Given the description of an element on the screen output the (x, y) to click on. 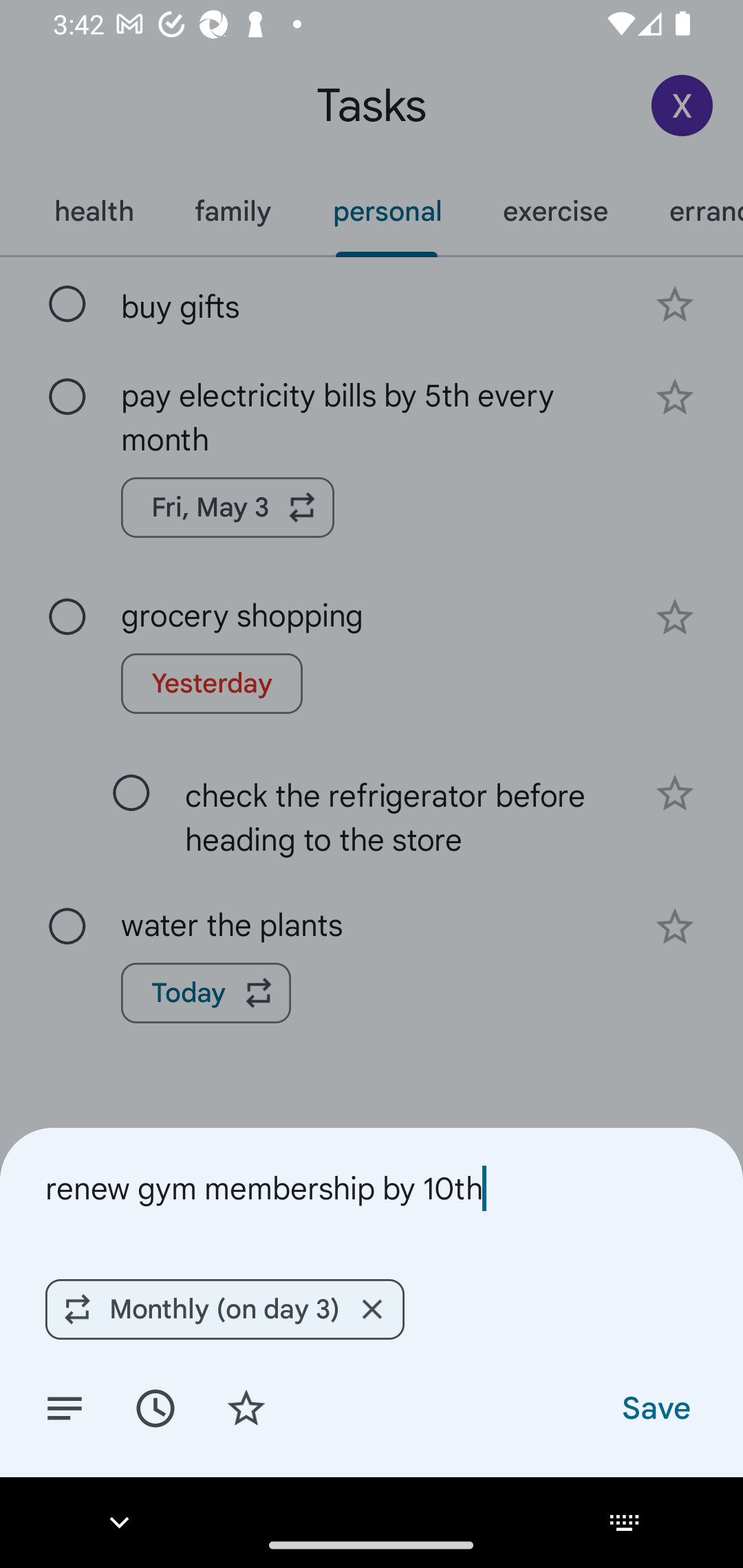
renew gym membership by 10th (371, 1188)
Monthly (on day 3) Remove Monthly (on day 3) (224, 1308)
Save (655, 1407)
Add details (64, 1407)
Set date/time (154, 1407)
Add star (245, 1407)
